Given the description of an element on the screen output the (x, y) to click on. 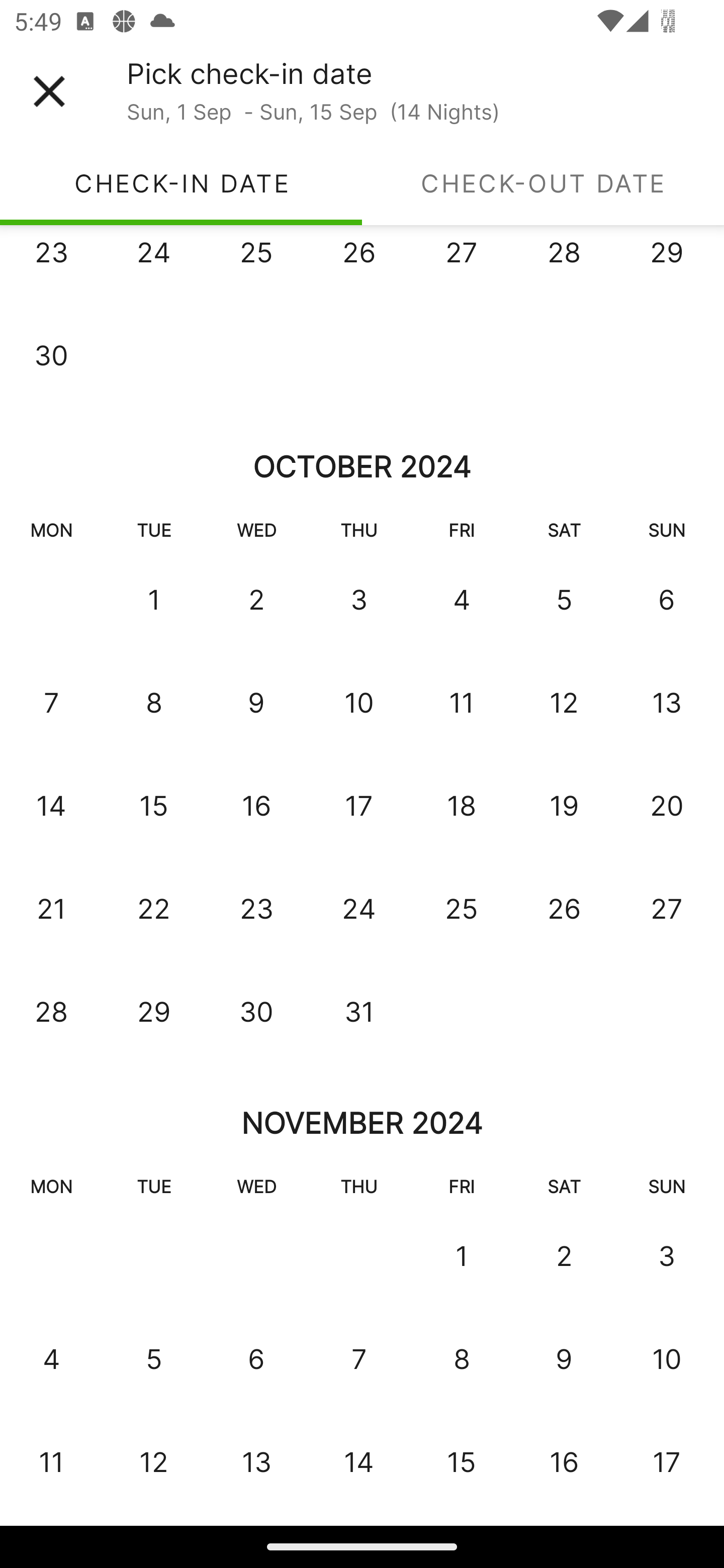
Check-out Date CHECK-OUT DATE (543, 183)
